Given the description of an element on the screen output the (x, y) to click on. 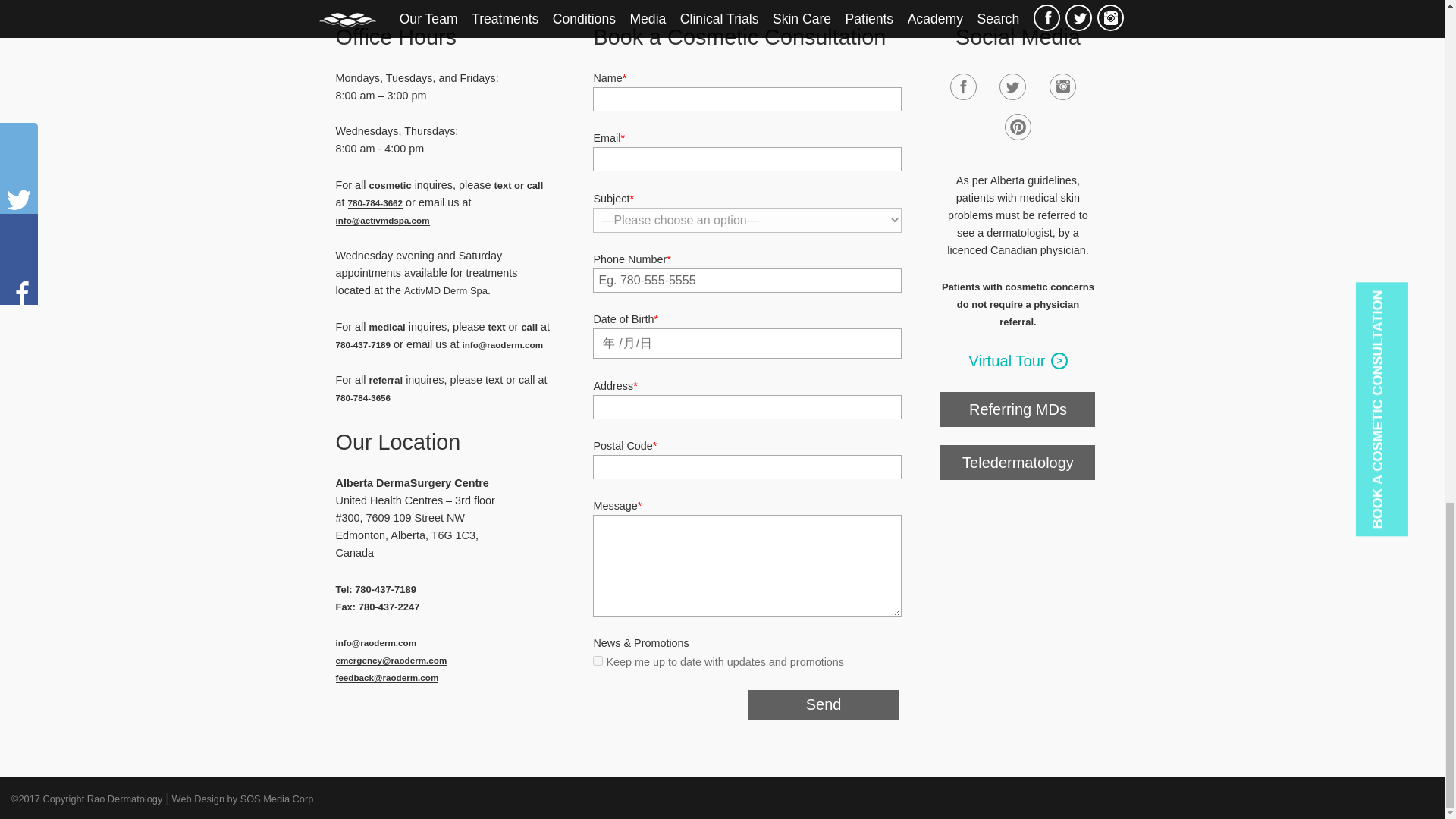
Send (823, 704)
Keep me up to date with updates and promotions (597, 660)
Referring MDs (1017, 409)
Facebook (963, 86)
Virtual Tour (1017, 360)
Instagram (1062, 86)
Twitter (1012, 86)
Pinterest (1017, 126)
